Given the description of an element on the screen output the (x, y) to click on. 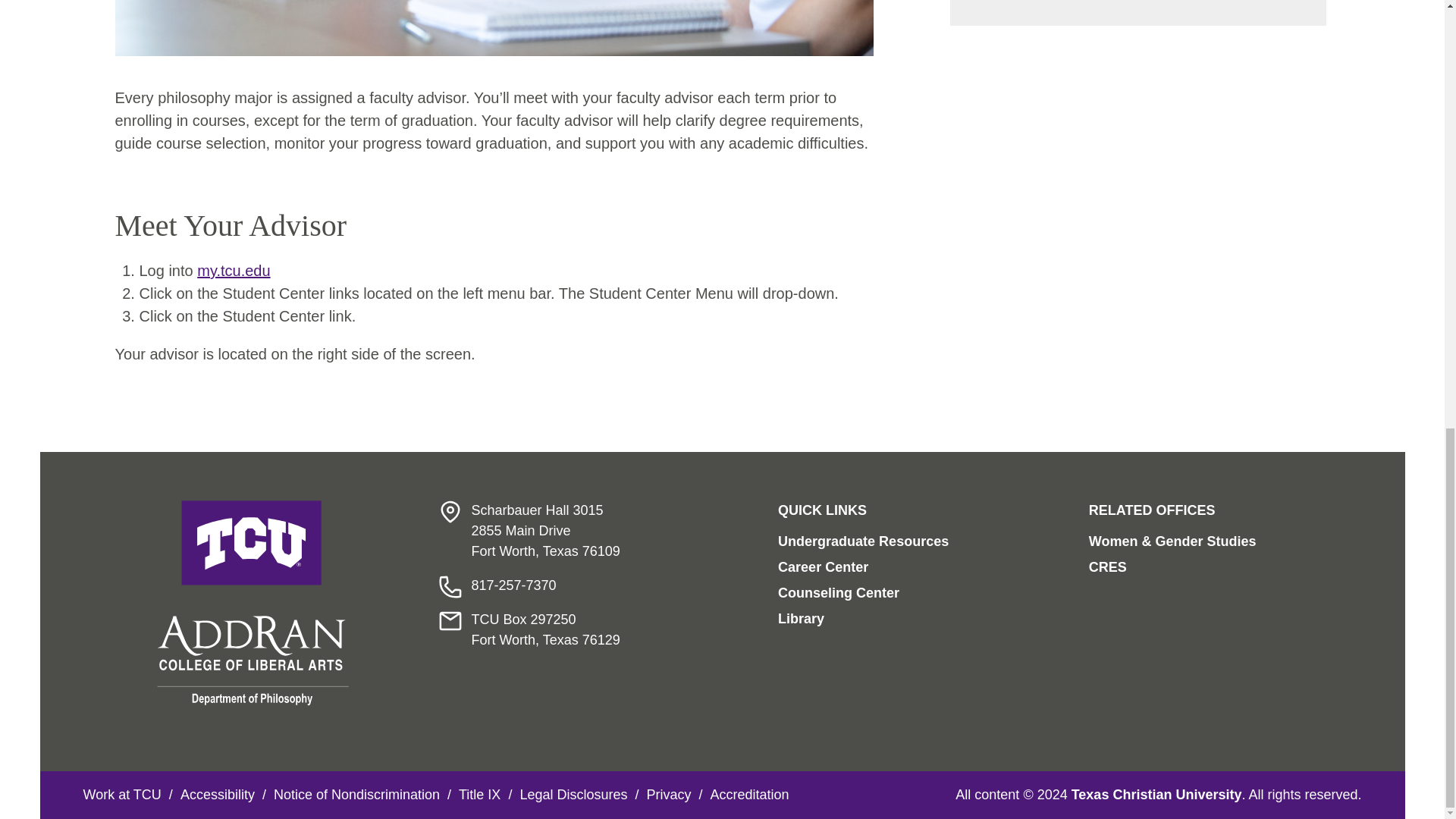
CRES (1107, 566)
Counseling Center (838, 592)
Notice of Nondiscrimination (356, 794)
my.tcu.edu (232, 270)
Legal Disclosures (573, 794)
Title IX (479, 794)
Work at TCU (121, 794)
Career Center (822, 566)
AddRan Department of Philosophy Homepage (253, 602)
Library (800, 618)
